Given the description of an element on the screen output the (x, y) to click on. 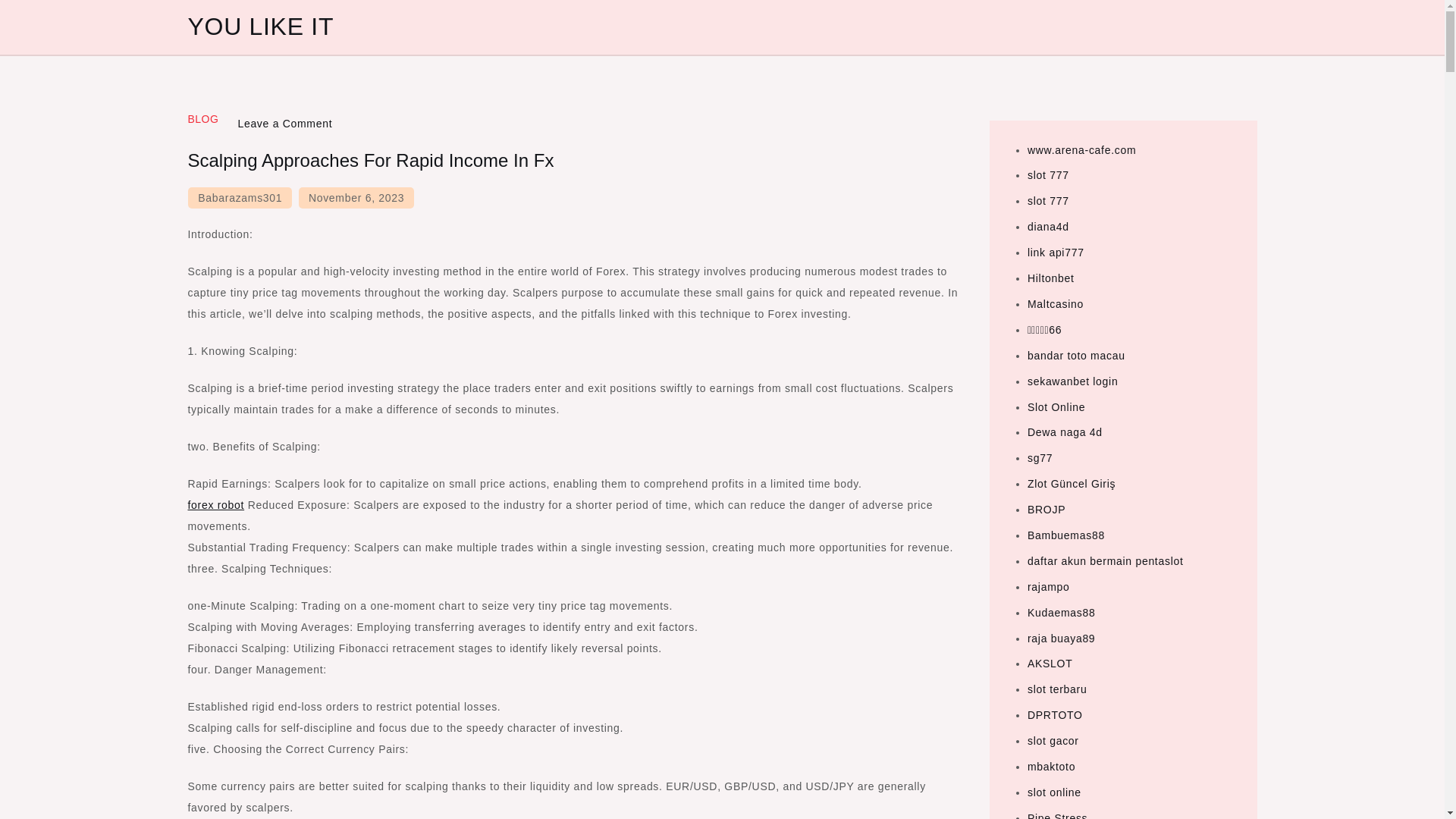
daftar akun bermain pentaslot (1105, 561)
Babarazams301 (239, 197)
AKSLOT (1049, 663)
Hiltonbet (1050, 277)
BLOG (203, 119)
rajampo (1047, 586)
raja buaya89 (1060, 638)
diana4d (1047, 226)
mbaktoto (1051, 766)
slot online (1054, 792)
